Given the description of an element on the screen output the (x, y) to click on. 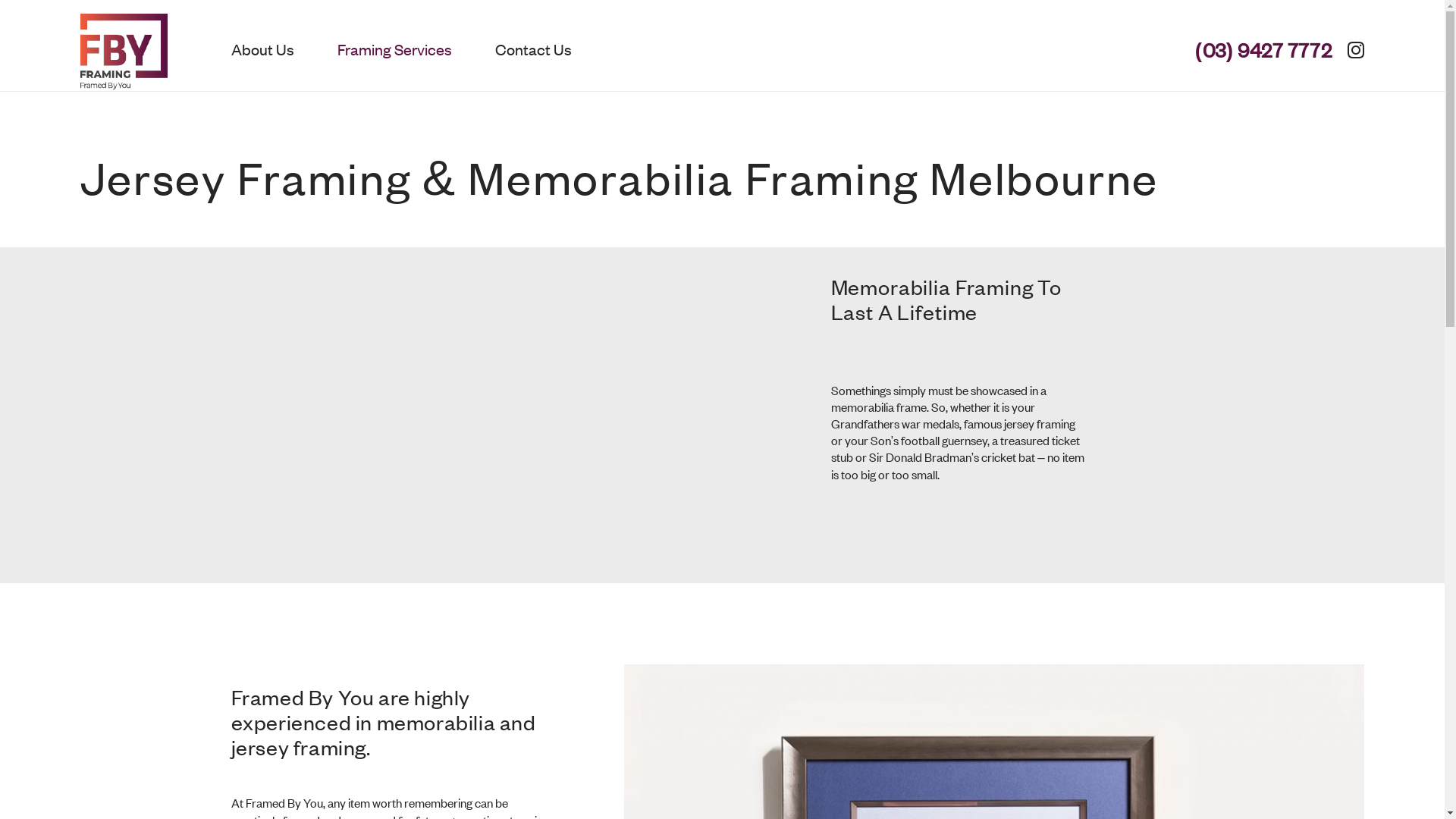
Framing Services Element type: text (394, 51)
Contact Us Element type: text (522, 51)
(03) 9427 7772 Element type: text (1255, 51)
About Us Element type: text (262, 51)
